Given the description of an element on the screen output the (x, y) to click on. 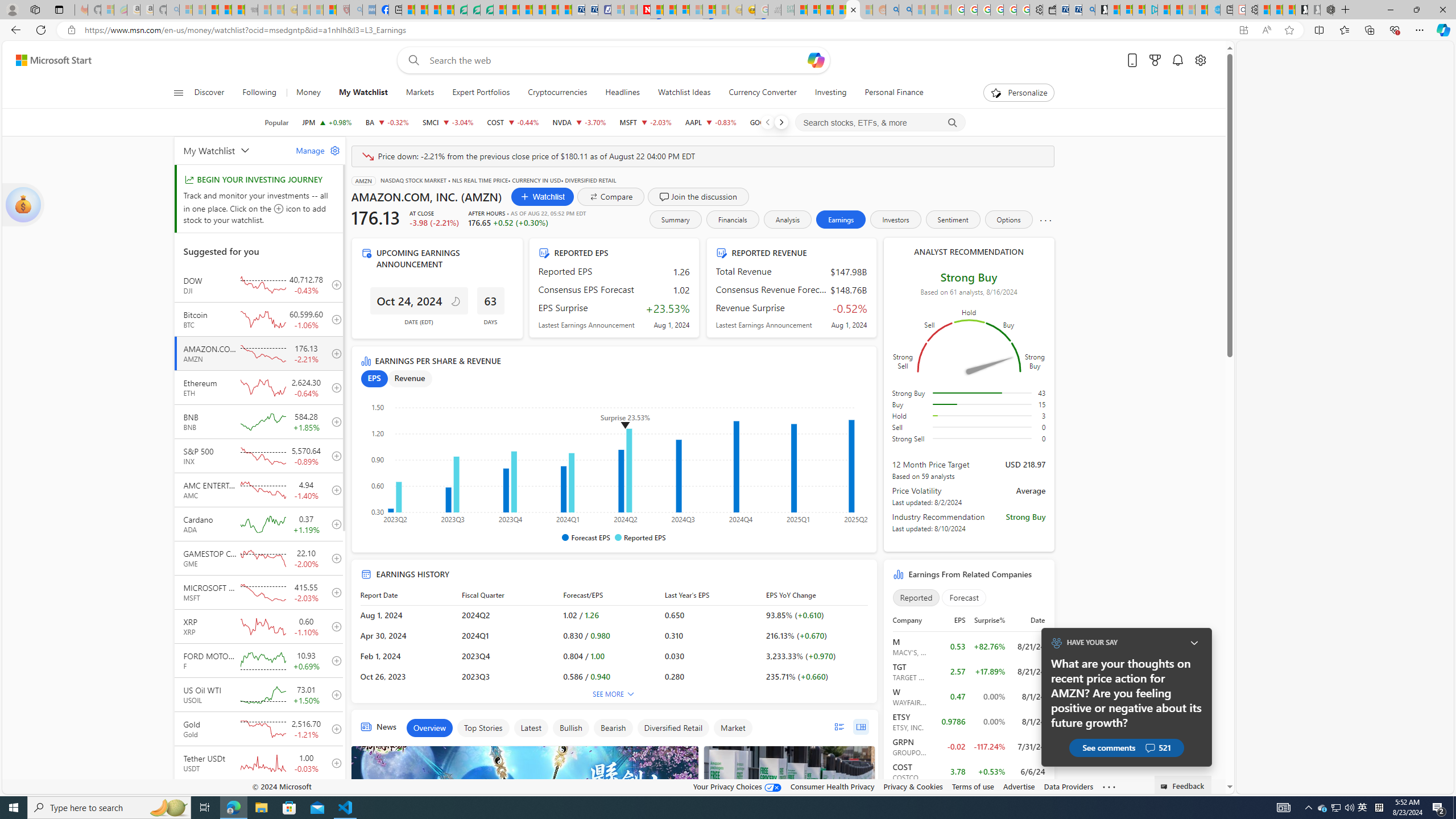
Latest (530, 728)
Notifications (1177, 60)
Cheap Car Rentals - Save70.com (1075, 9)
Terms of Use Agreement (473, 9)
Money (308, 92)
Latest Politics News & Archive | Newsweek.com (643, 9)
Financials (732, 219)
